Given the description of an element on the screen output the (x, y) to click on. 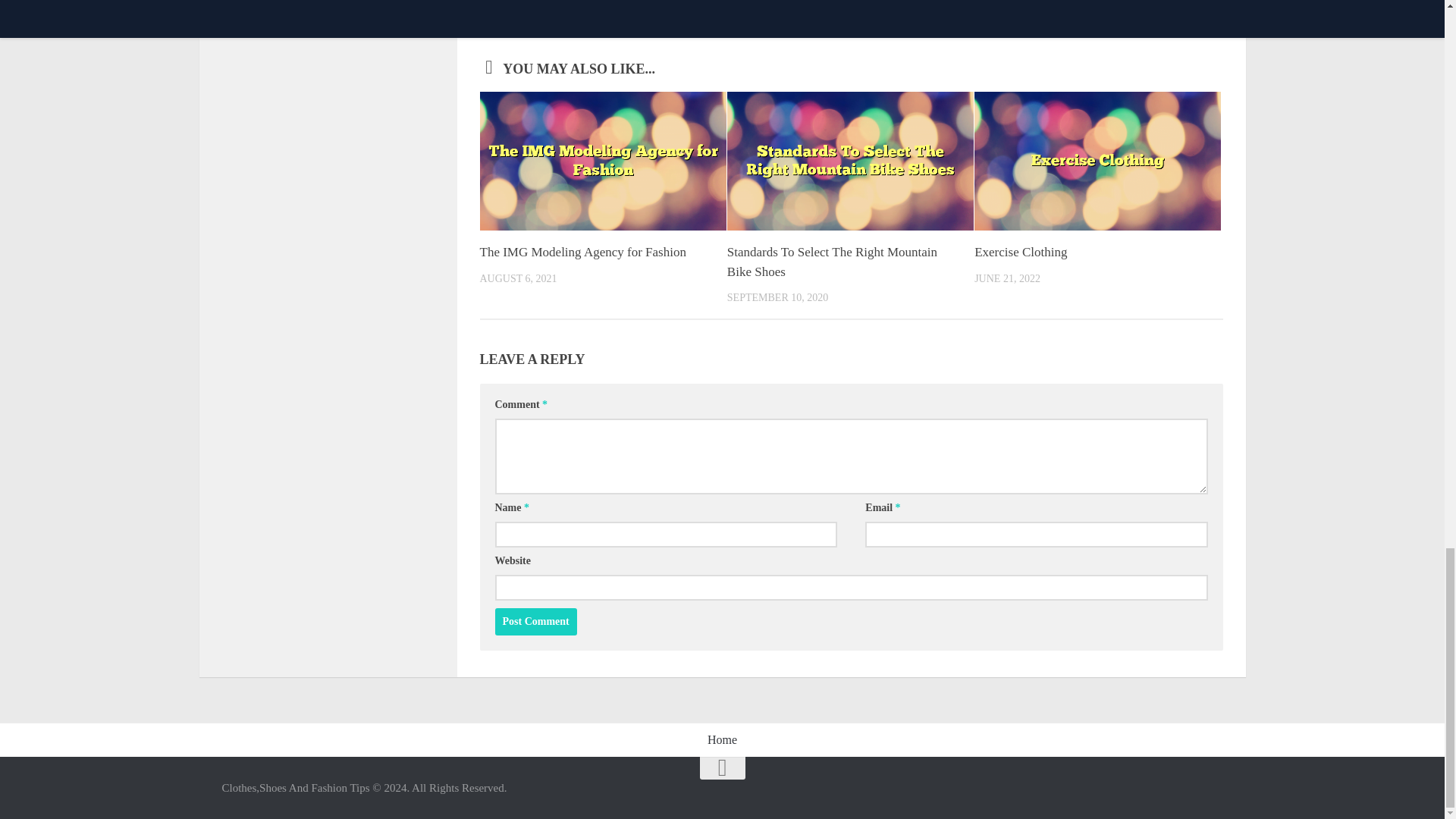
Post Comment (535, 621)
Exercise Clothing (1020, 251)
Post Comment (535, 621)
The IMG Modeling Agency for Fashion (582, 251)
Standards To Select The Right Mountain Bike Shoes (831, 261)
